Given the description of an element on the screen output the (x, y) to click on. 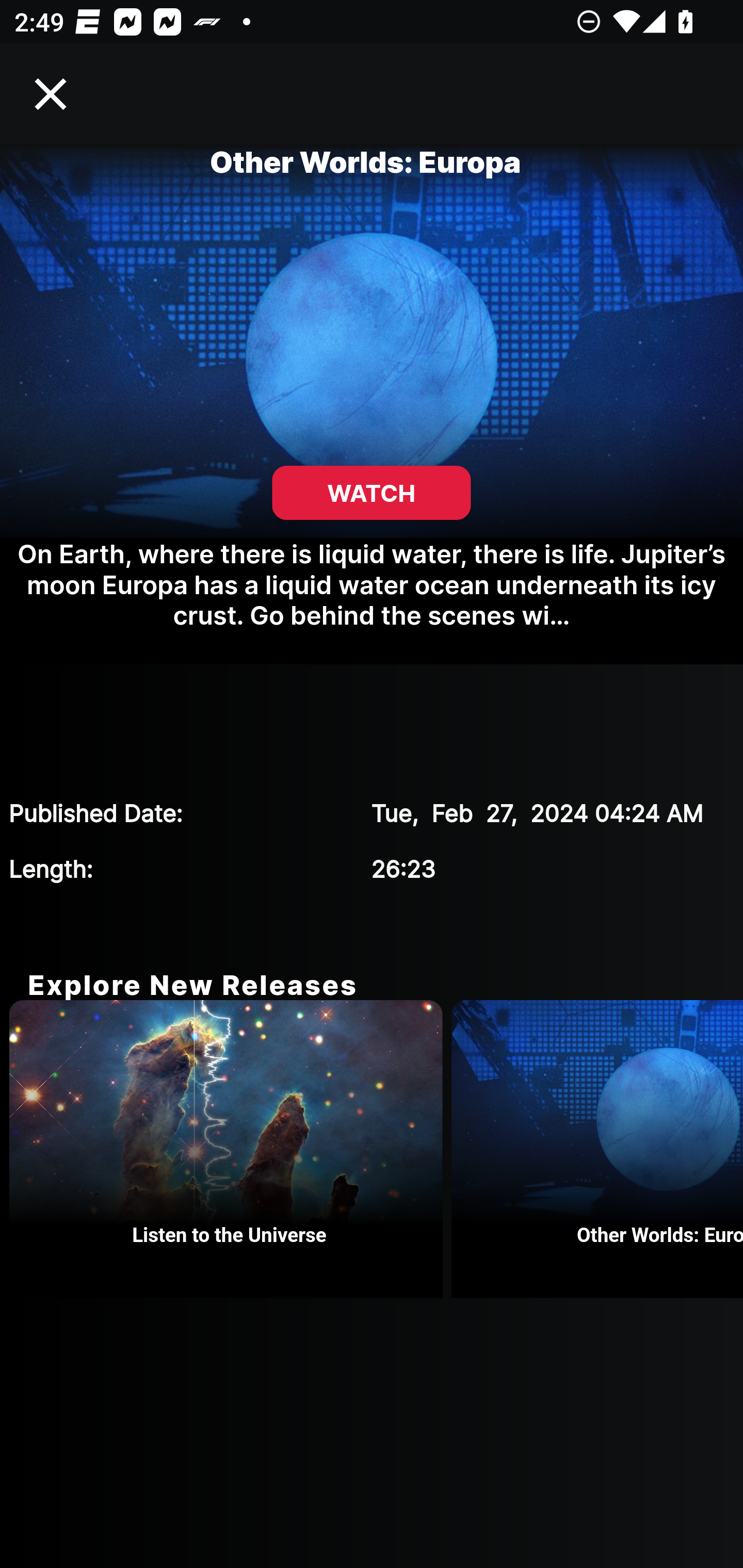
WATCH (371, 492)
Listen to the Universe (229, 1149)
Other Worlds: Europa (597, 1149)
